Given the description of an element on the screen output the (x, y) to click on. 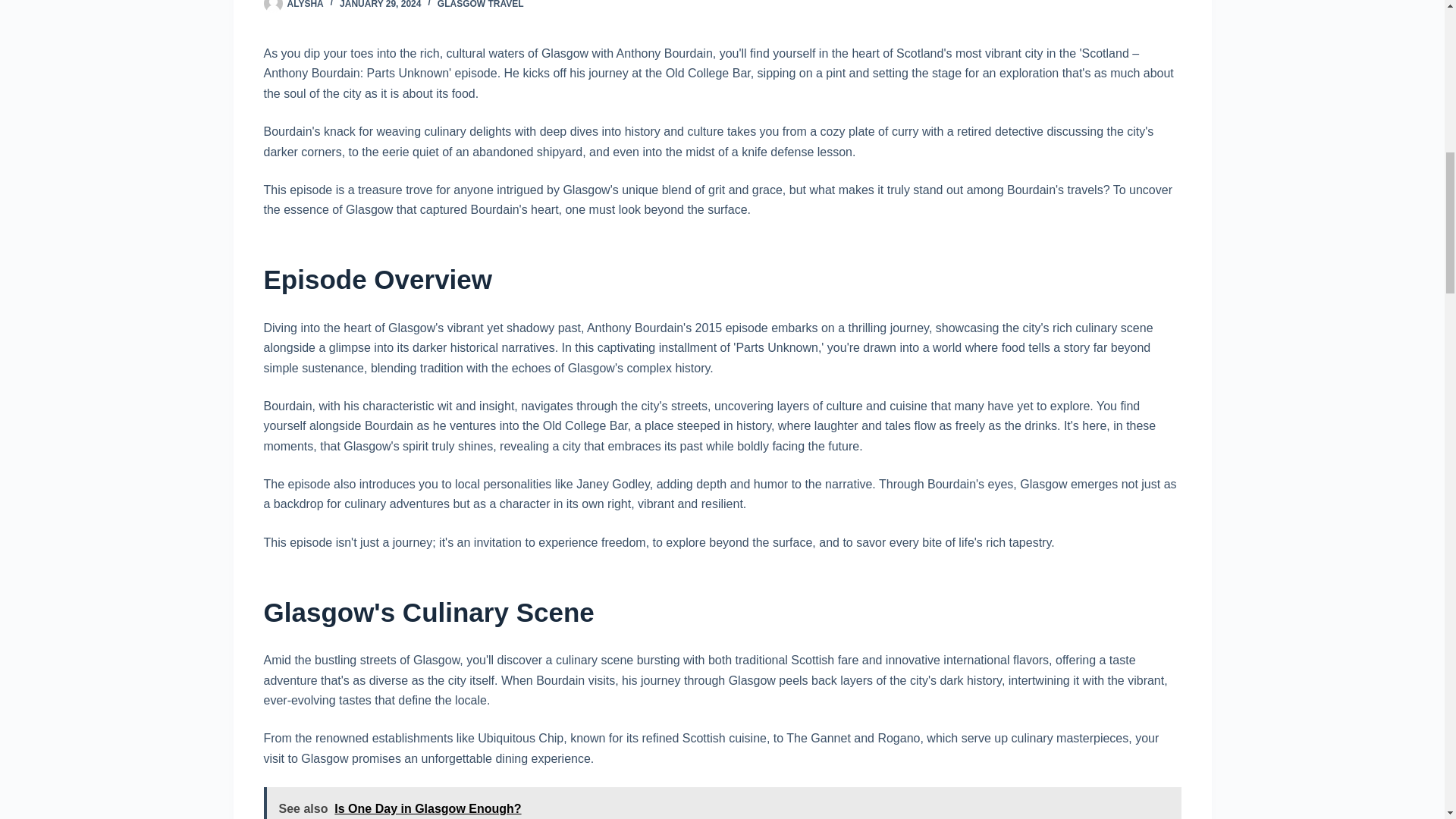
See also  Is One Day in Glasgow Enough? (721, 803)
Posts by Alysha (304, 4)
ALYSHA (304, 4)
GLASGOW TRAVEL (481, 4)
